Given the description of an element on the screen output the (x, y) to click on. 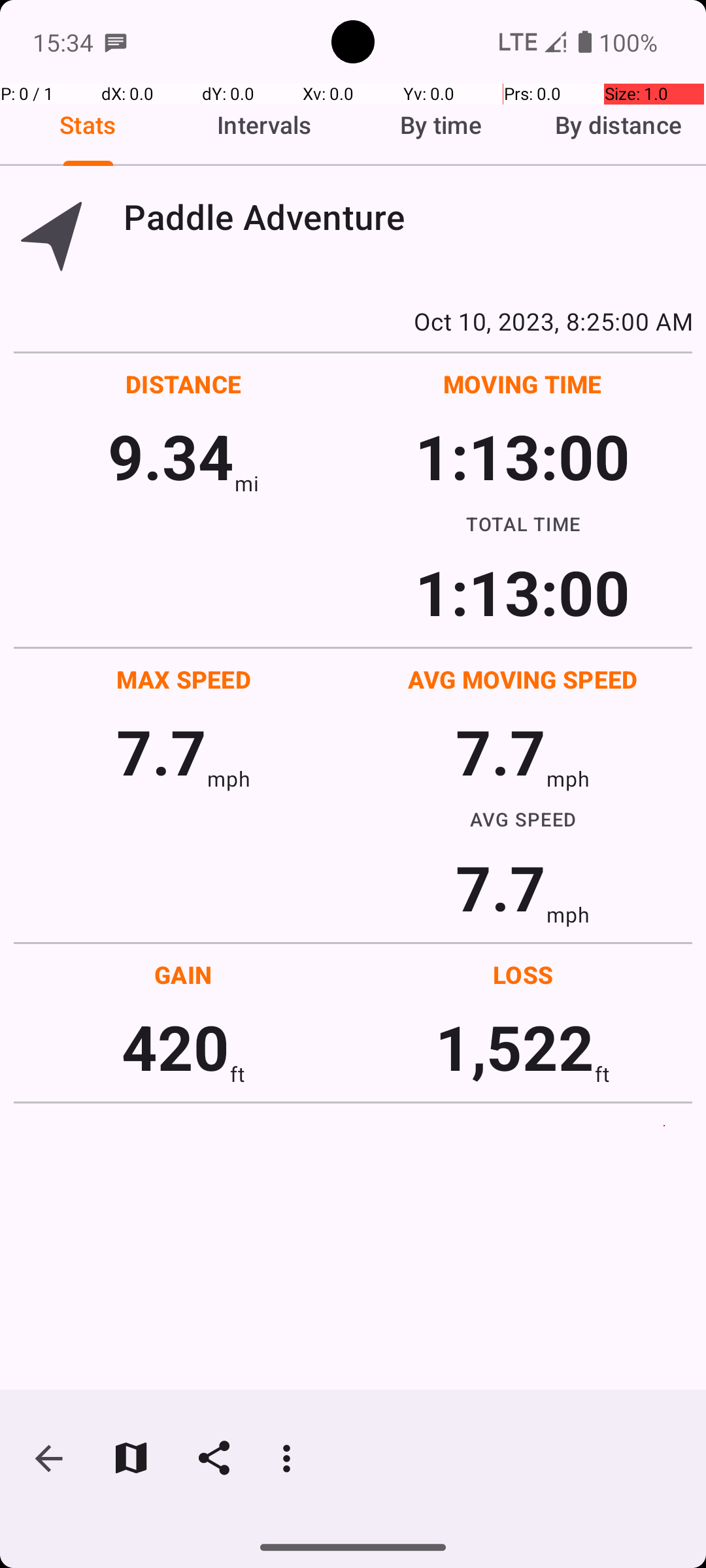
Paddle Adventure Element type: android.widget.TextView (407, 216)
Oct 10, 2023, 8:25:00 AM Element type: android.widget.TextView (352, 320)
9.34 Element type: android.widget.TextView (170, 455)
1:13:00 Element type: android.widget.TextView (522, 455)
7.7 Element type: android.widget.TextView (161, 750)
420 Element type: android.widget.TextView (175, 1045)
1,522 Element type: android.widget.TextView (514, 1045)
